Given the description of an element on the screen output the (x, y) to click on. 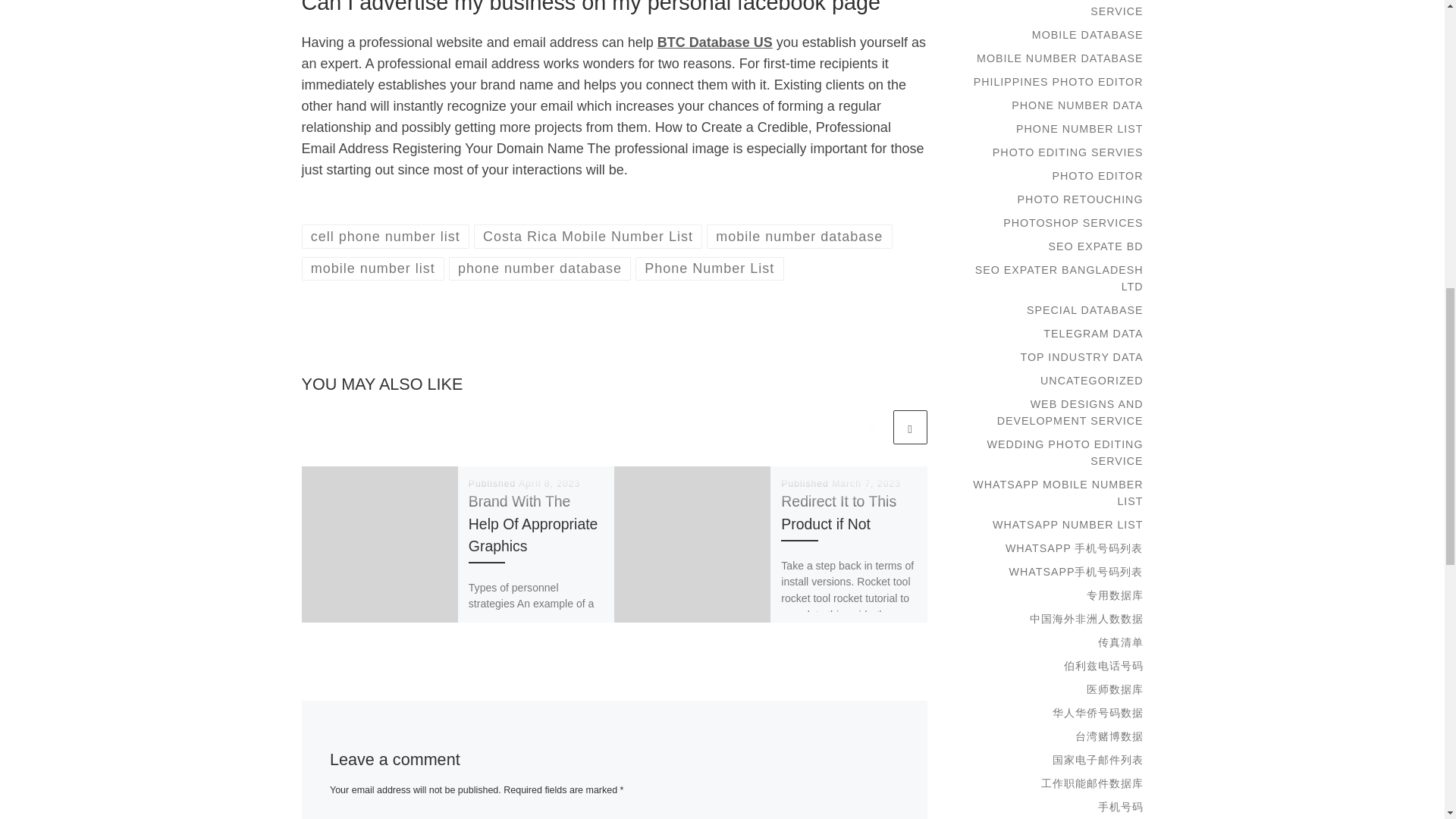
View all posts in phone number database (539, 268)
March 7, 2023 (866, 483)
Next related articles (910, 427)
Costa Rica Mobile Number List (588, 236)
View all posts in mobile number database (799, 236)
View all posts in cell phone number list (385, 236)
View all posts in mobile number list (373, 268)
mobile number list (373, 268)
phone number database (539, 268)
cell phone number list (385, 236)
